Given the description of an element on the screen output the (x, y) to click on. 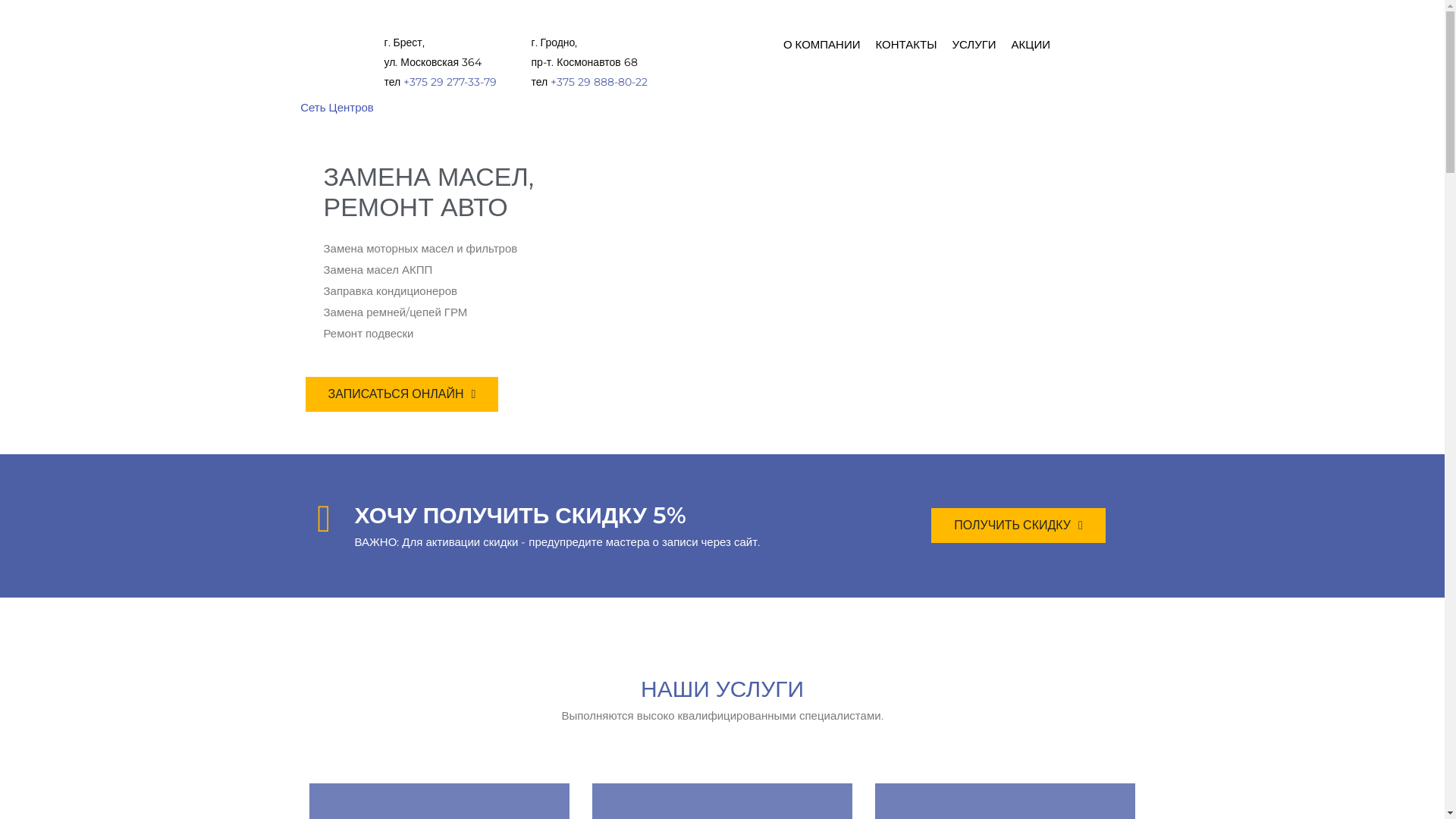
+375 29 277-33-79 Element type: text (449, 81)
+375 29 888-80-22 Element type: text (598, 81)
